Given the description of an element on the screen output the (x, y) to click on. 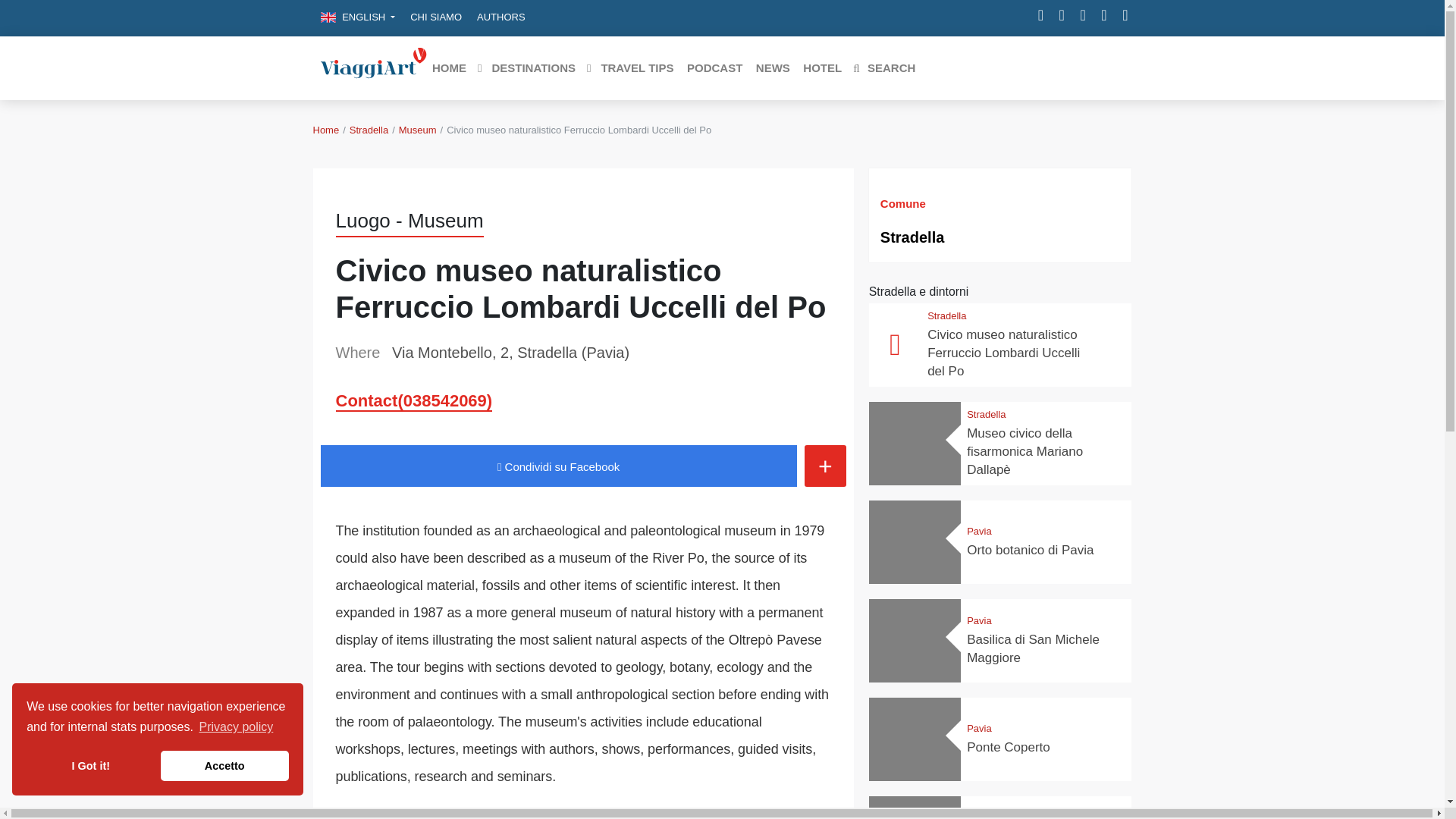
Home (326, 130)
Authors (500, 16)
CHI SIAMO (435, 16)
Stradella (368, 130)
Museum (417, 130)
Search (883, 68)
HOME (448, 68)
ViaggiArt (373, 66)
DESTINATIONS (526, 68)
I Got it! (90, 766)
